Given the description of an element on the screen output the (x, y) to click on. 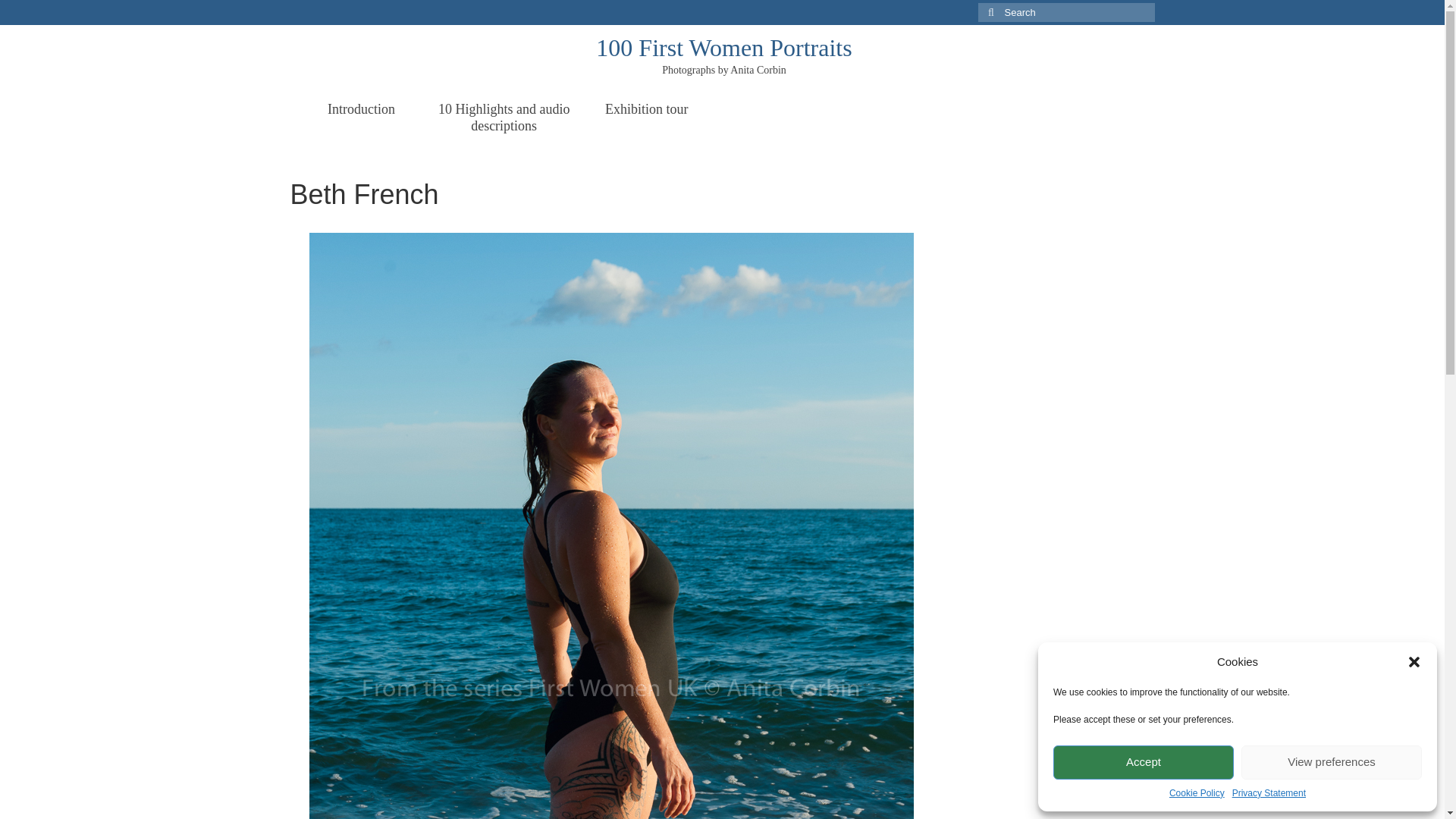
Cookie Policy (1196, 793)
Introduction (360, 109)
Privacy Statement (1268, 793)
View preferences (1331, 762)
100 First Women Portraits (723, 47)
Exhibition tour (646, 109)
10 Highlights and audio descriptions (503, 117)
Accept (1142, 762)
